Given the description of an element on the screen output the (x, y) to click on. 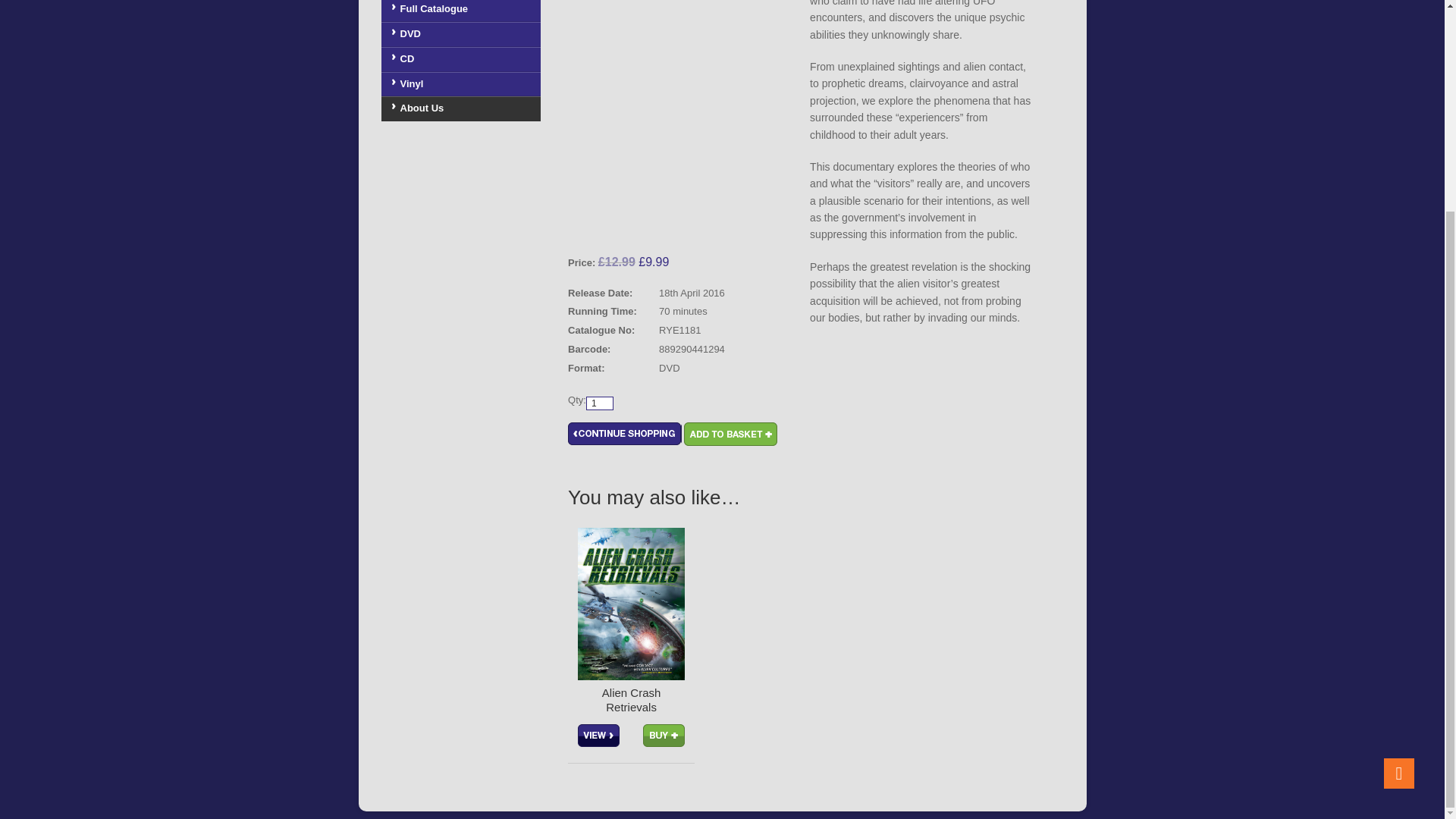
About Us (467, 108)
Full Catalogue (467, 10)
Alien Crash Retrievals (631, 700)
CD (467, 59)
Continue Shopping (624, 433)
Vinyl (467, 84)
DVD (467, 33)
1 (599, 403)
